Given the description of an element on the screen output the (x, y) to click on. 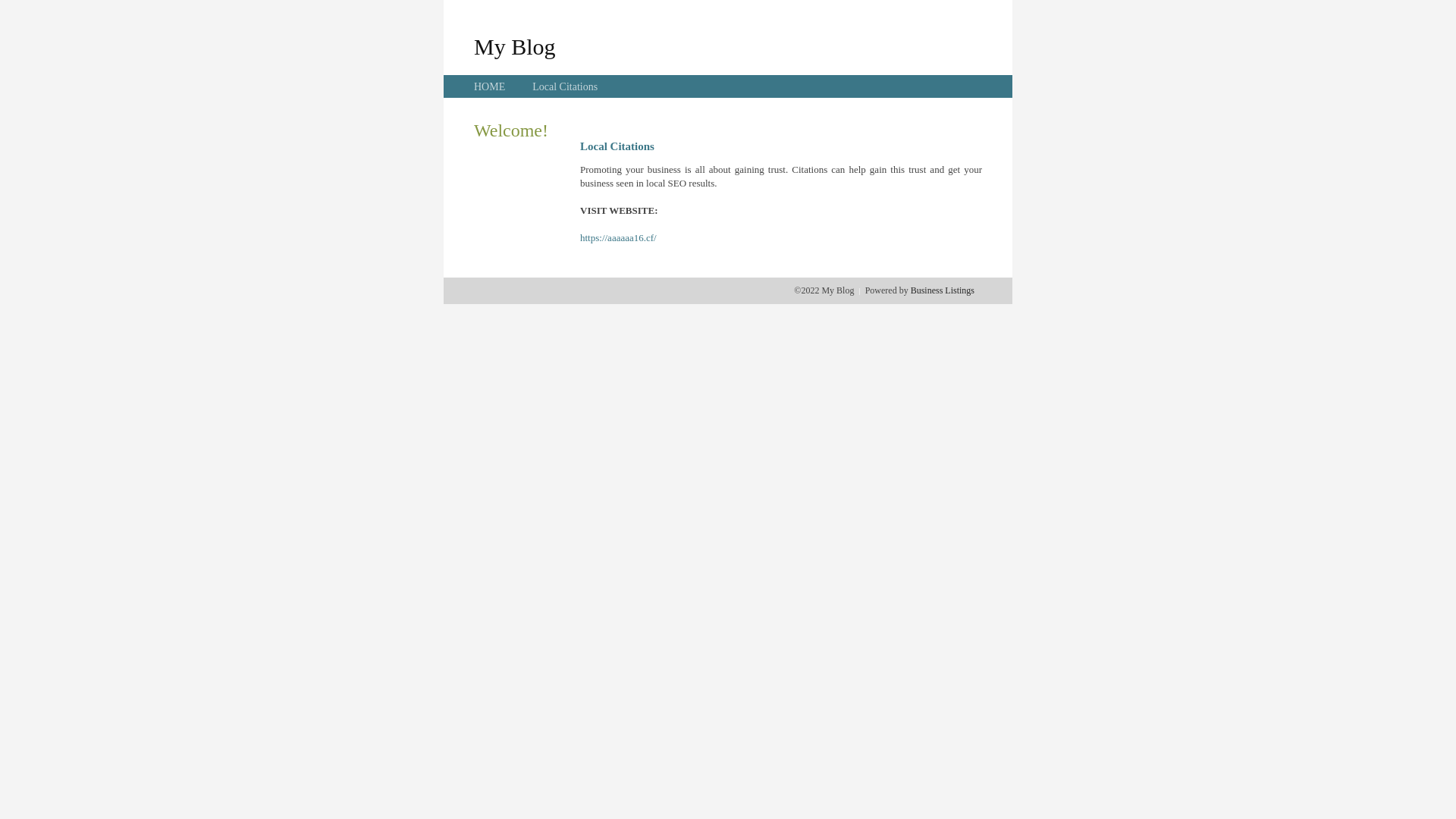
My Blog Element type: text (514, 46)
Business Listings Element type: text (942, 290)
Local Citations Element type: text (564, 86)
HOME Element type: text (489, 86)
https://aaaaaa16.cf/ Element type: text (618, 237)
